Given the description of an element on the screen output the (x, y) to click on. 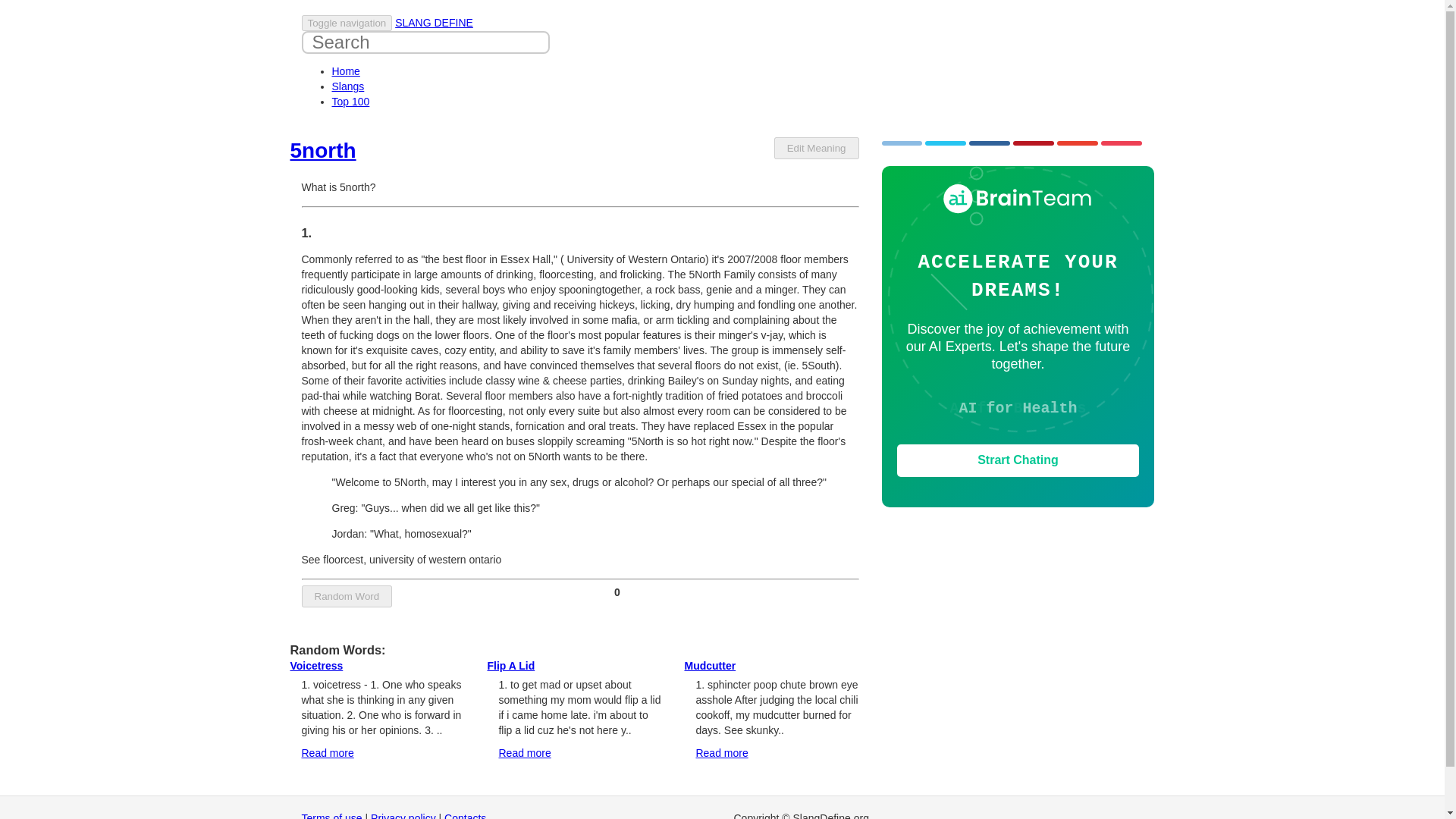
Edit Meaning (816, 147)
Flip A Lid (510, 665)
Mudcutter (709, 665)
Read more (721, 752)
Privacy policy (403, 815)
Read more (523, 752)
Top 100 (350, 101)
SLANG DEFINE (433, 22)
Read more (327, 752)
Home (345, 70)
Contacts (465, 815)
Strart Chating (1017, 460)
Slangs (348, 86)
Toggle navigation (347, 23)
